Given the description of an element on the screen output the (x, y) to click on. 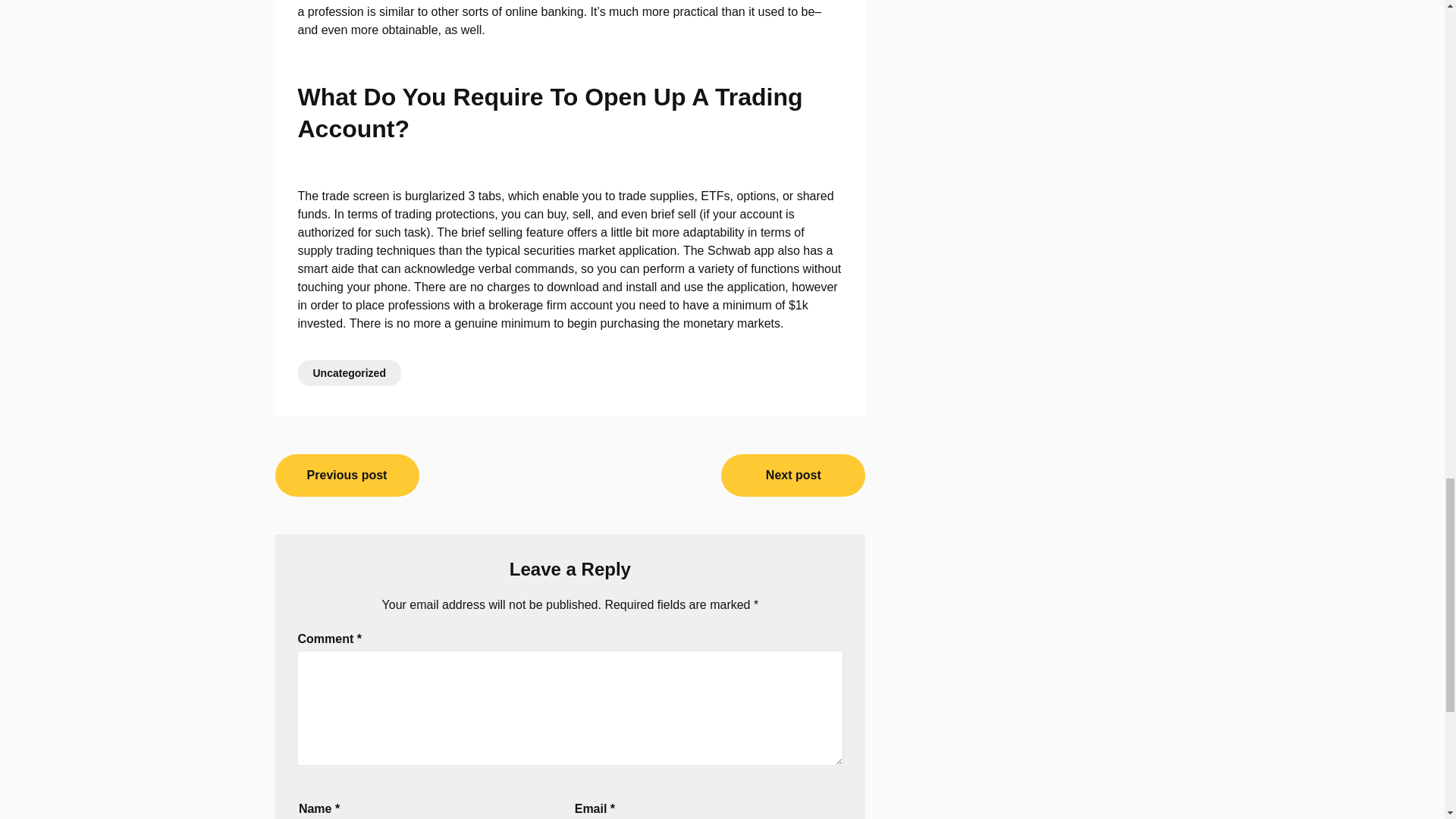
Next post (792, 475)
Uncategorized (348, 372)
Previous post (347, 475)
